Given the description of an element on the screen output the (x, y) to click on. 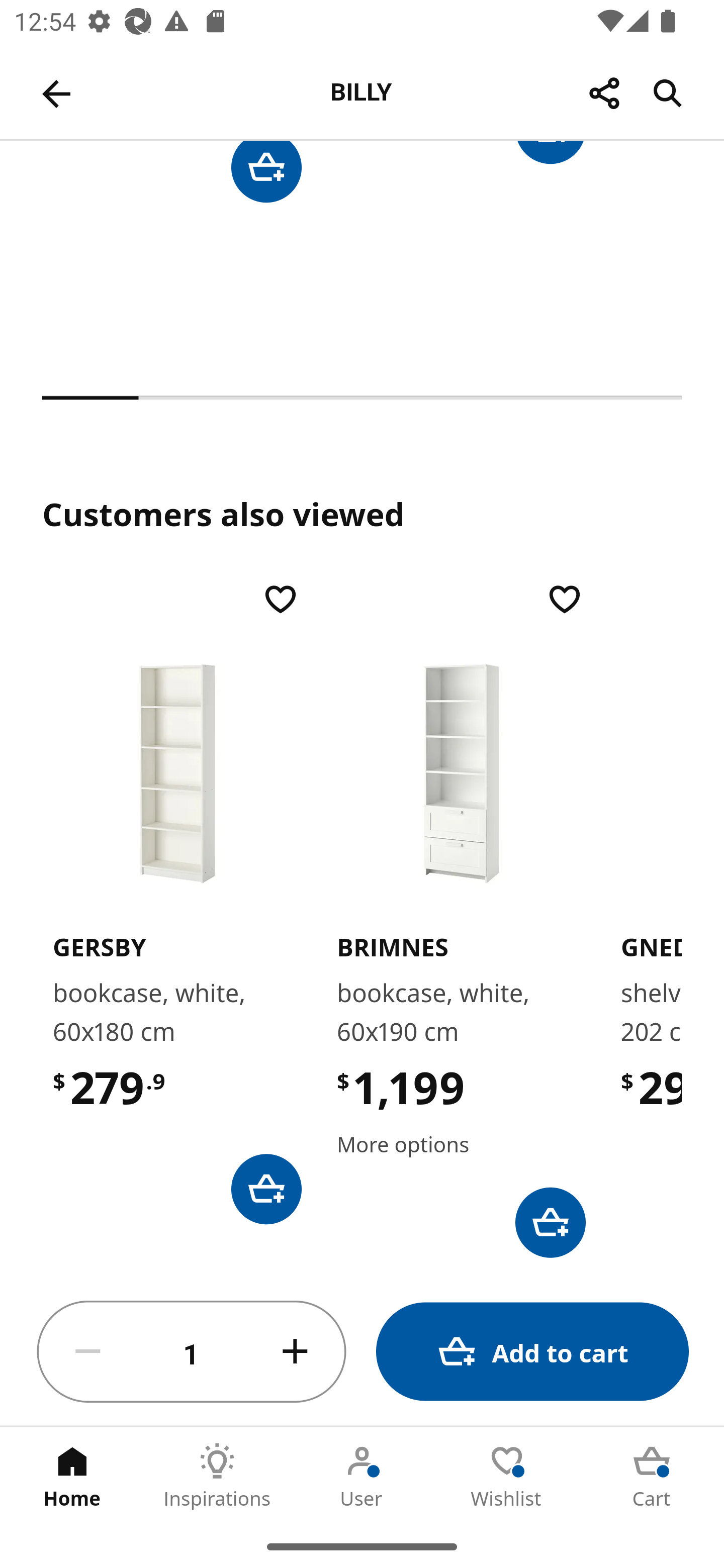
​G​E​R​S​B​Y​
bookcase, white, 60x180 cm
$
279
.9 (176, 901)
Add to cart (531, 1352)
1 (191, 1352)
Home
Tab 1 of 5 (72, 1476)
Inspirations
Tab 2 of 5 (216, 1476)
User
Tab 3 of 5 (361, 1476)
Wishlist
Tab 4 of 5 (506, 1476)
Cart
Tab 5 of 5 (651, 1476)
